Given the description of an element on the screen output the (x, y) to click on. 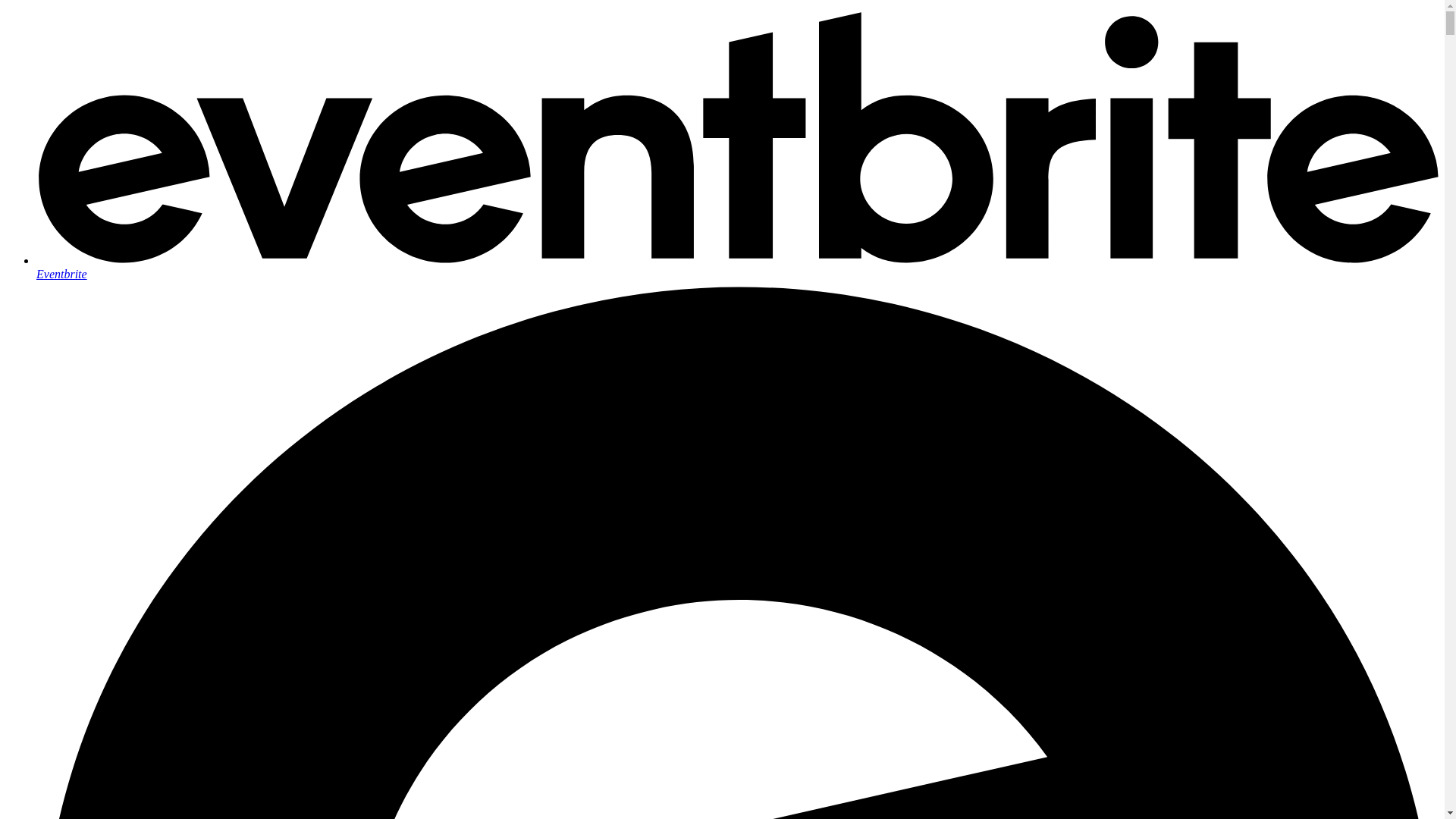
Eventbrite Element type: text (737, 267)
